Given the description of an element on the screen output the (x, y) to click on. 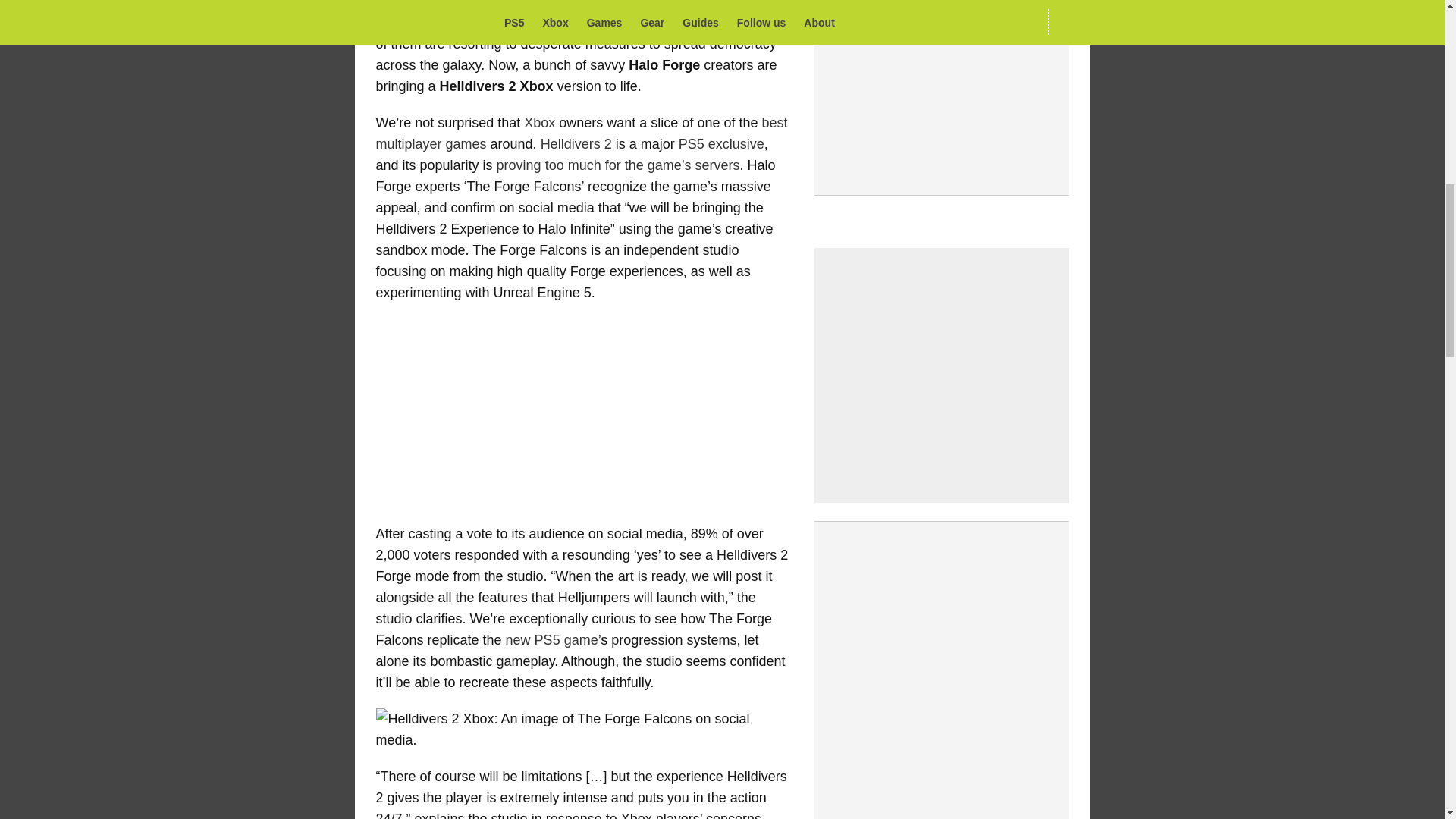
Xbox (539, 122)
best multiplayer games (581, 133)
helldivers-2-xbox-halo-forge (584, 729)
